Given the description of an element on the screen output the (x, y) to click on. 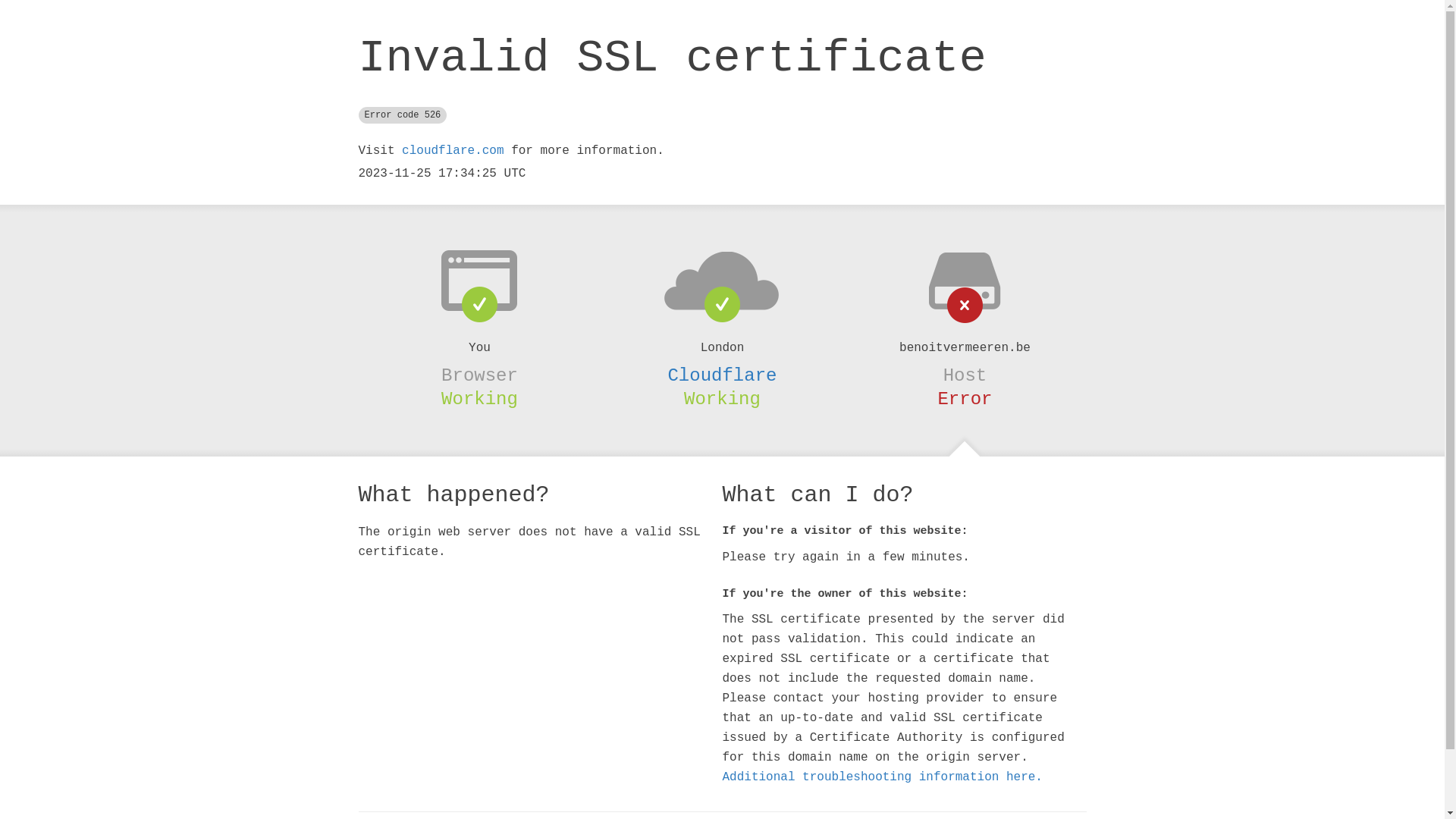
Additional troubleshooting information here. Element type: text (881, 777)
Cloudflare Element type: text (721, 375)
cloudflare.com Element type: text (452, 150)
